Given the description of an element on the screen output the (x, y) to click on. 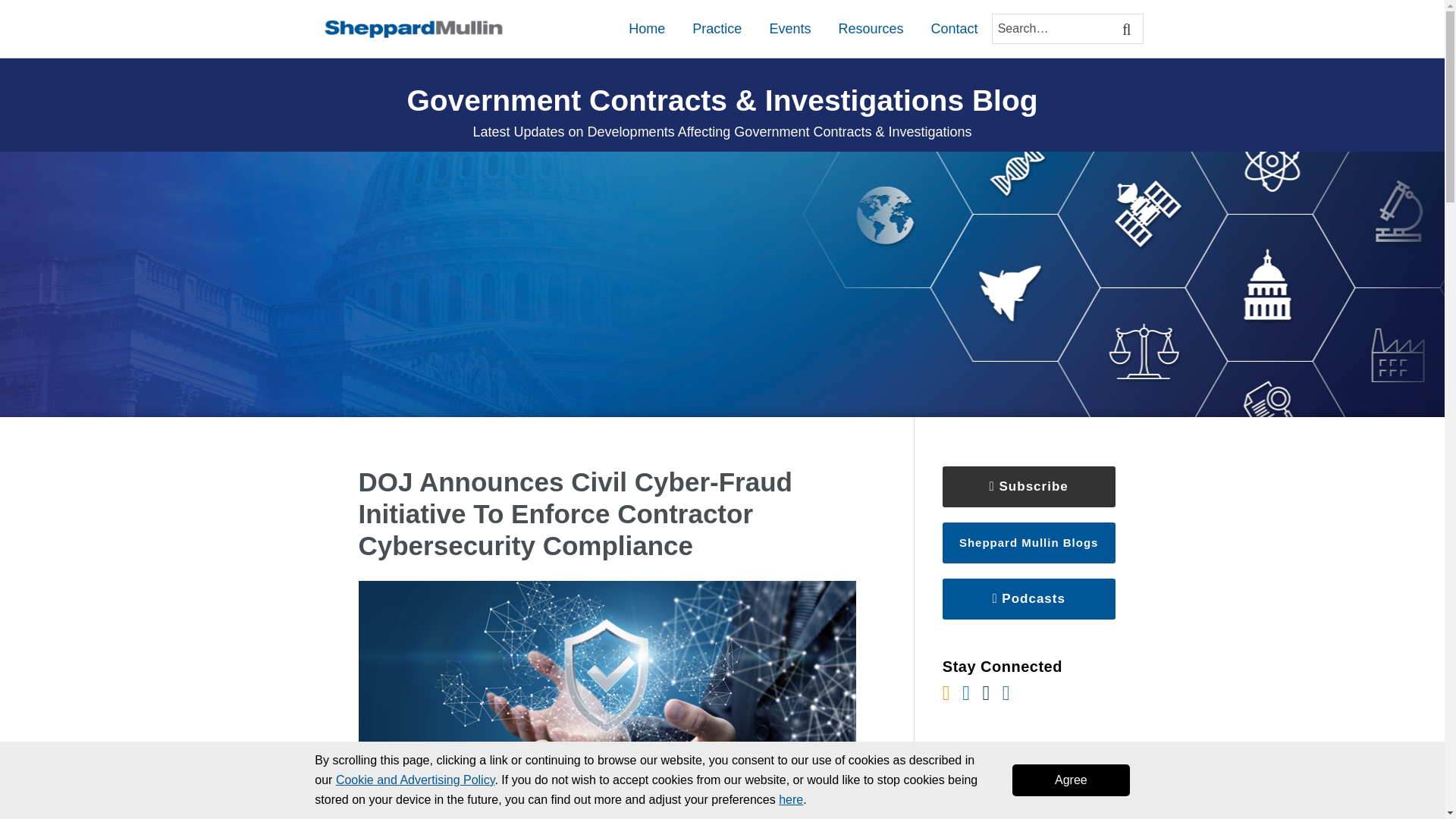
Events (789, 28)
Cookie and Advertising Policy (415, 779)
Practice (717, 28)
Agree (1070, 780)
here (790, 799)
SEARCH (1128, 28)
Nikole Snyder (516, 814)
Townsend Bourne (423, 814)
Resources (870, 28)
Home (646, 28)
Contact (953, 28)
Lillia Damalouji (609, 814)
